Given the description of an element on the screen output the (x, y) to click on. 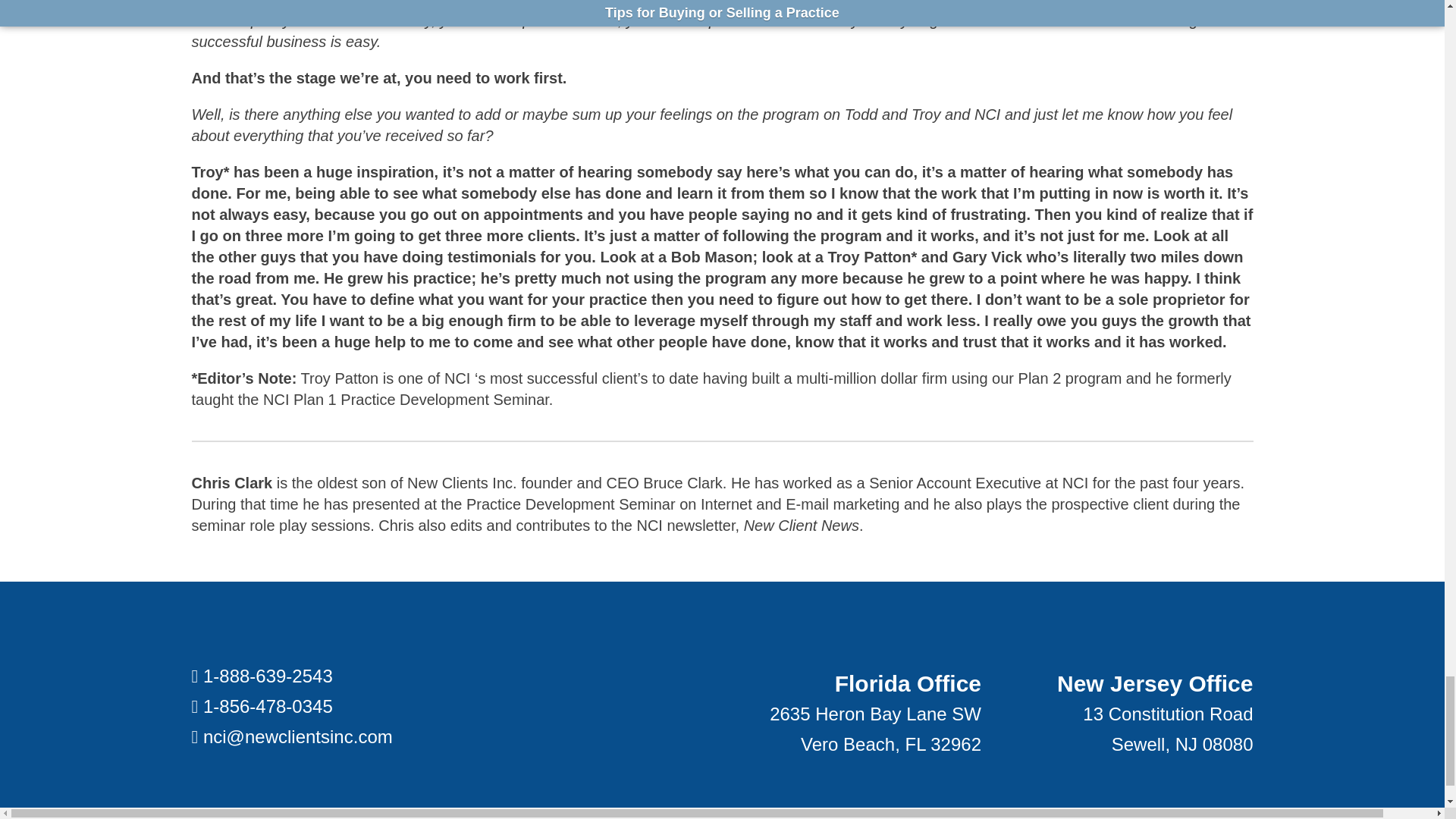
1-888-639-2543 (268, 675)
1-856-478-0345 (268, 706)
